Given the description of an element on the screen output the (x, y) to click on. 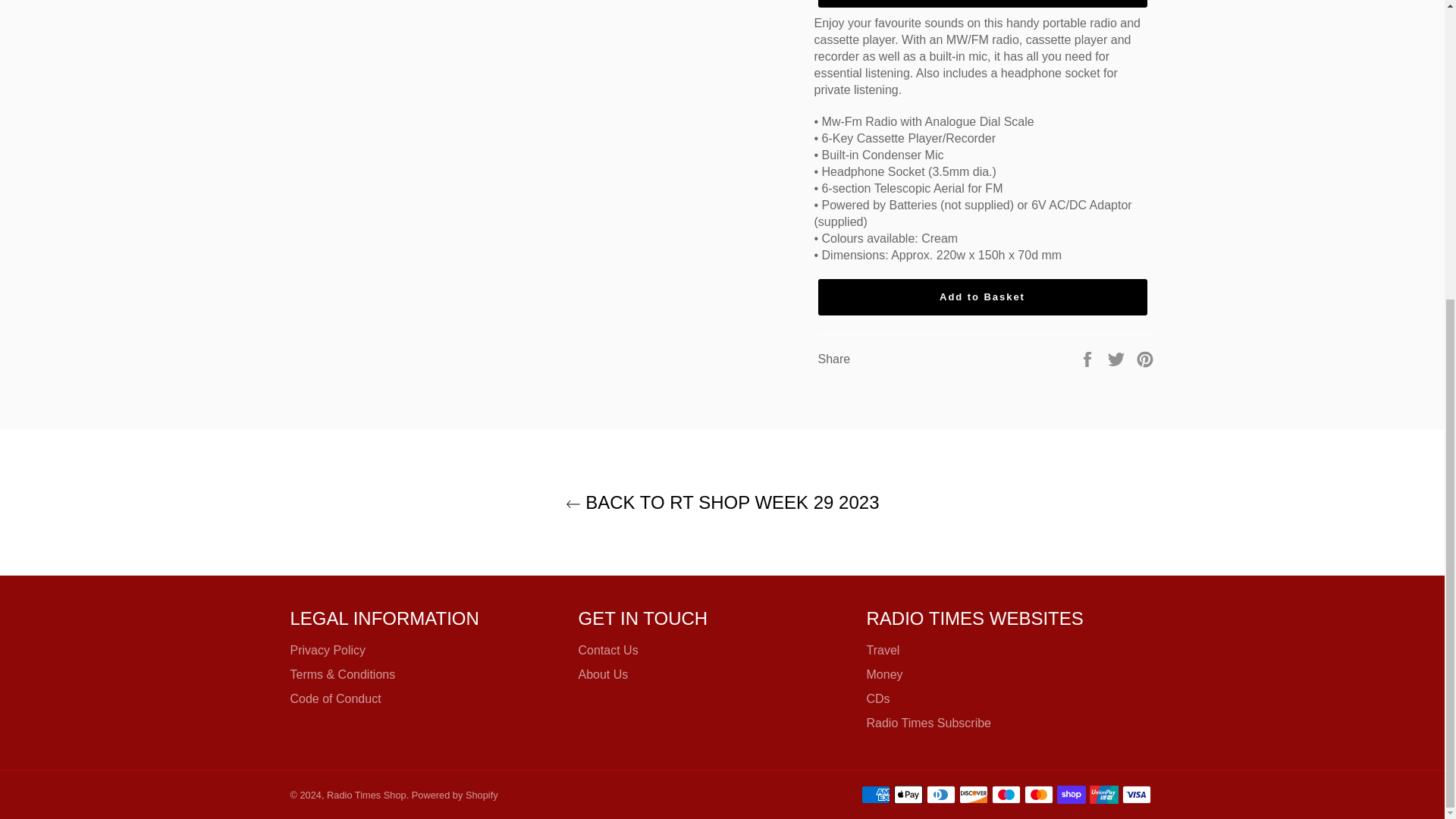
Pin on Pinterest (1144, 358)
Share on Facebook (1088, 358)
Tweet on Twitter (1117, 358)
